Given the description of an element on the screen output the (x, y) to click on. 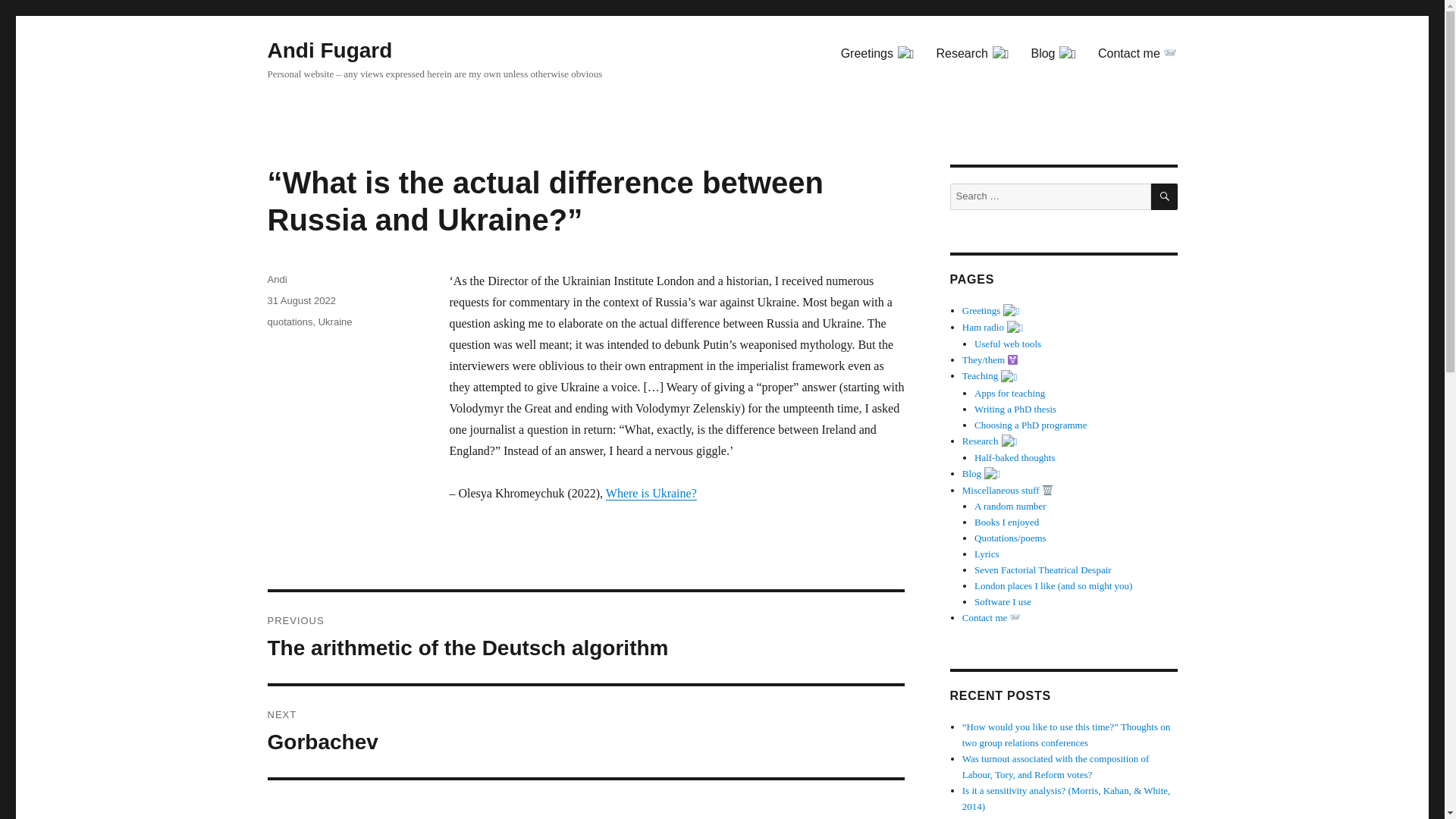
Ukraine (585, 731)
Contact me (335, 321)
Andi (1137, 52)
31 August 2022 (276, 279)
Blog (300, 300)
Research (1053, 53)
Where is Ukraine? (972, 53)
Andi Fugard (651, 492)
quotations (328, 50)
Greetings (289, 321)
